Given the description of an element on the screen output the (x, y) to click on. 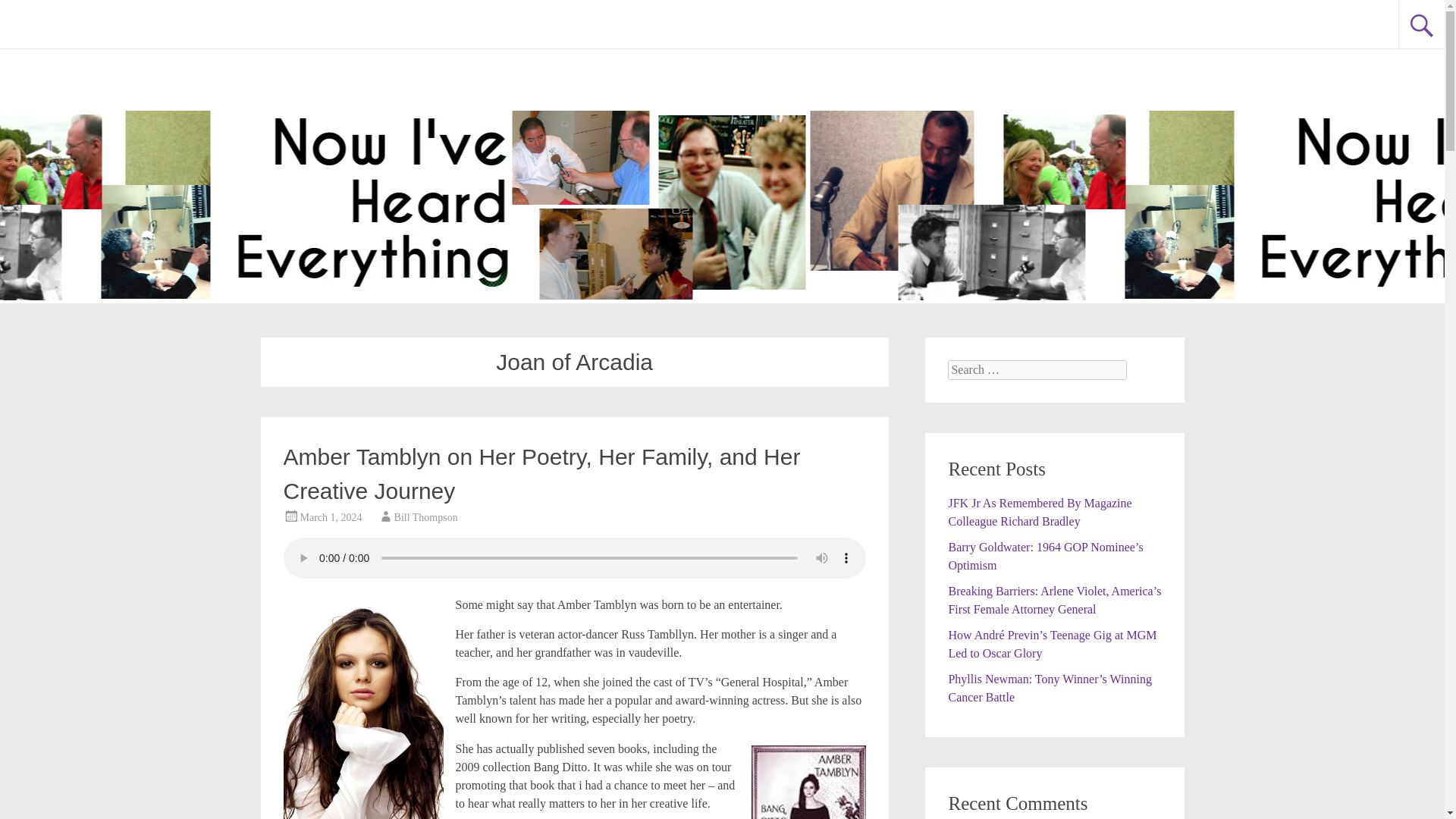
March 1, 2024 (330, 517)
JFK Jr As Remembered By Magazine Colleague Richard Bradley (1039, 511)
Bill Thompson (426, 517)
Search (26, 12)
Now I've Heard Everything (179, 23)
Now I've Heard Everything (179, 23)
